Given the description of an element on the screen output the (x, y) to click on. 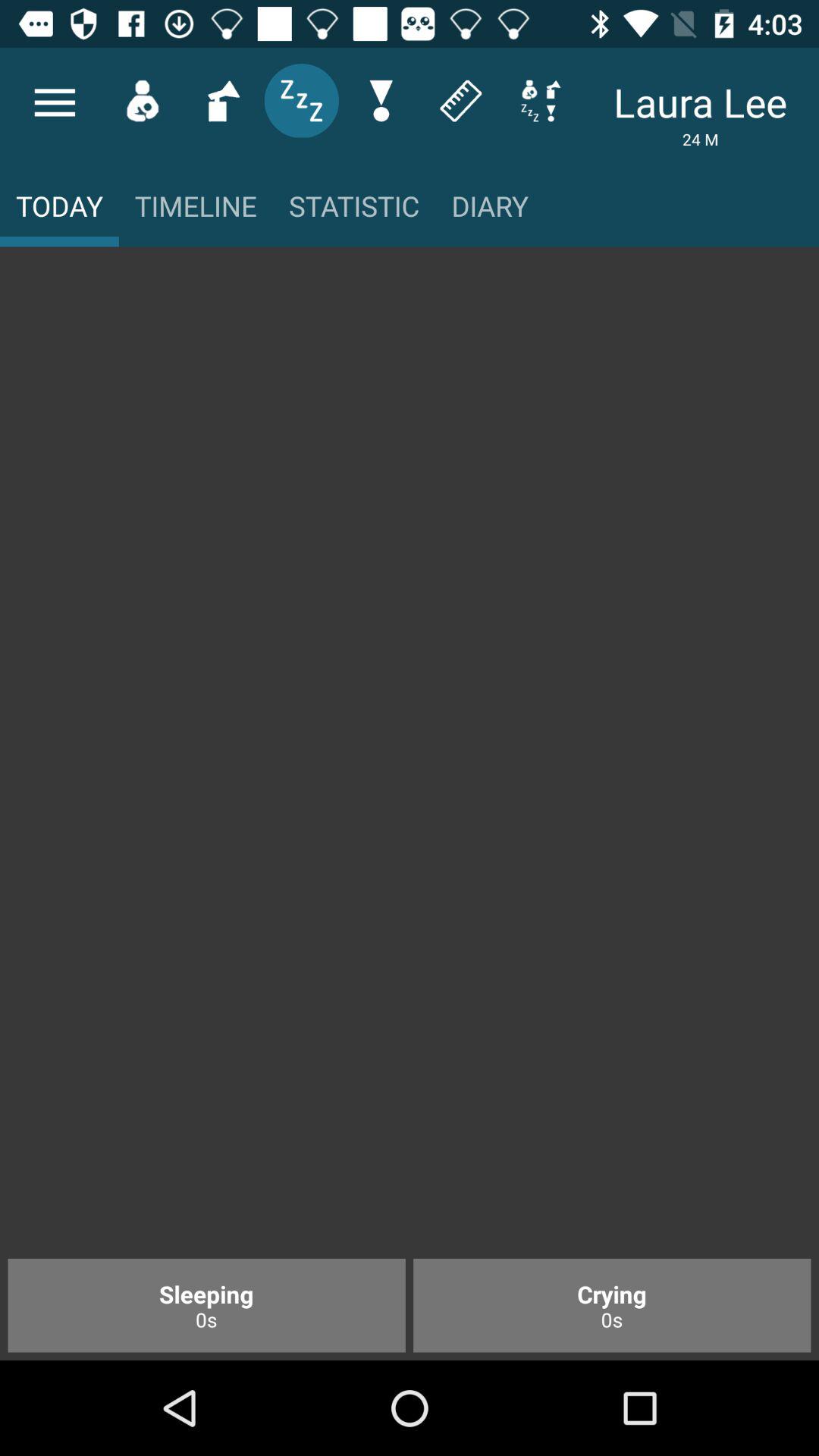
flip to the sleeping
0s item (206, 1305)
